Given the description of an element on the screen output the (x, y) to click on. 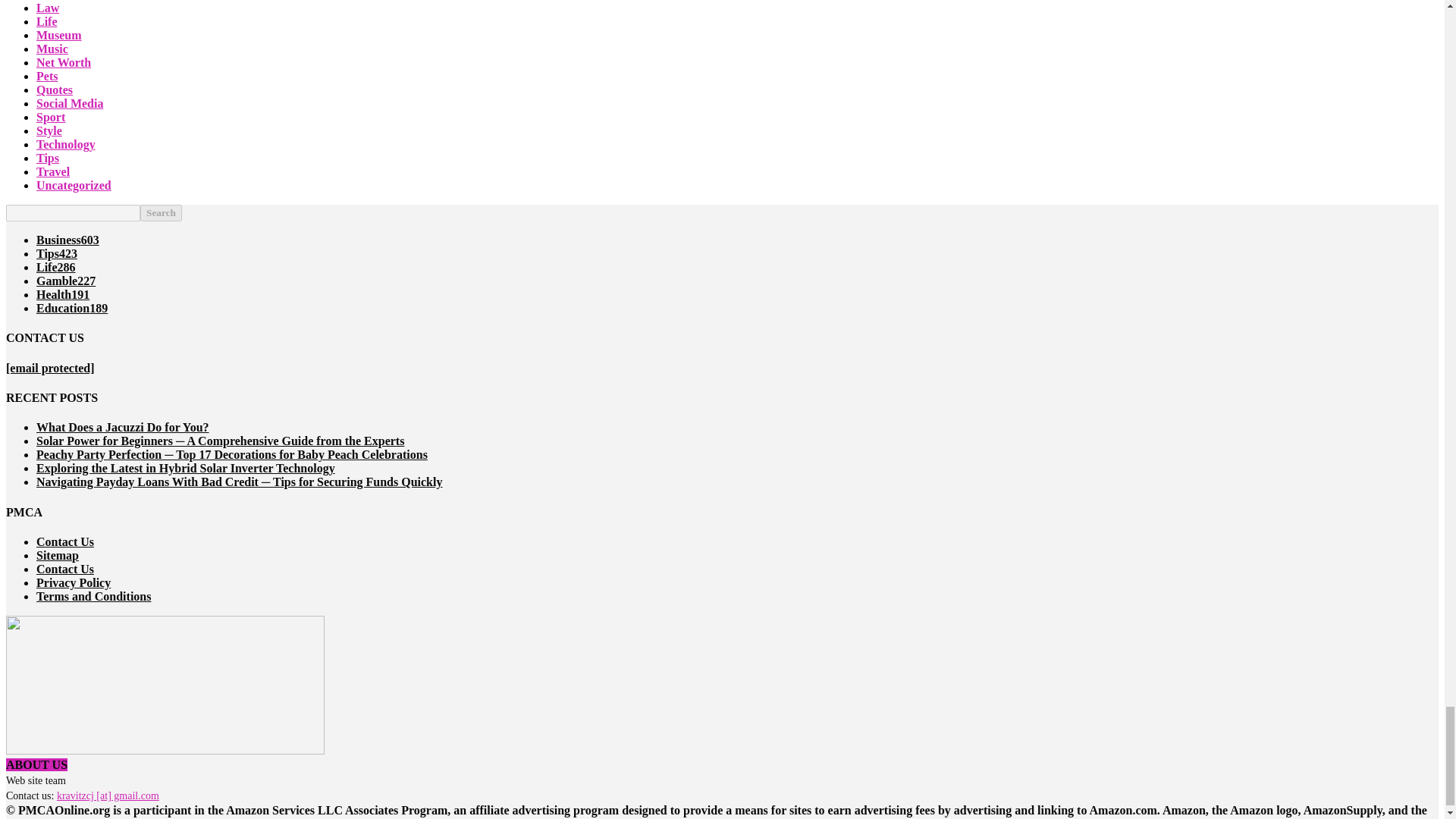
Search (160, 212)
